Given the description of an element on the screen output the (x, y) to click on. 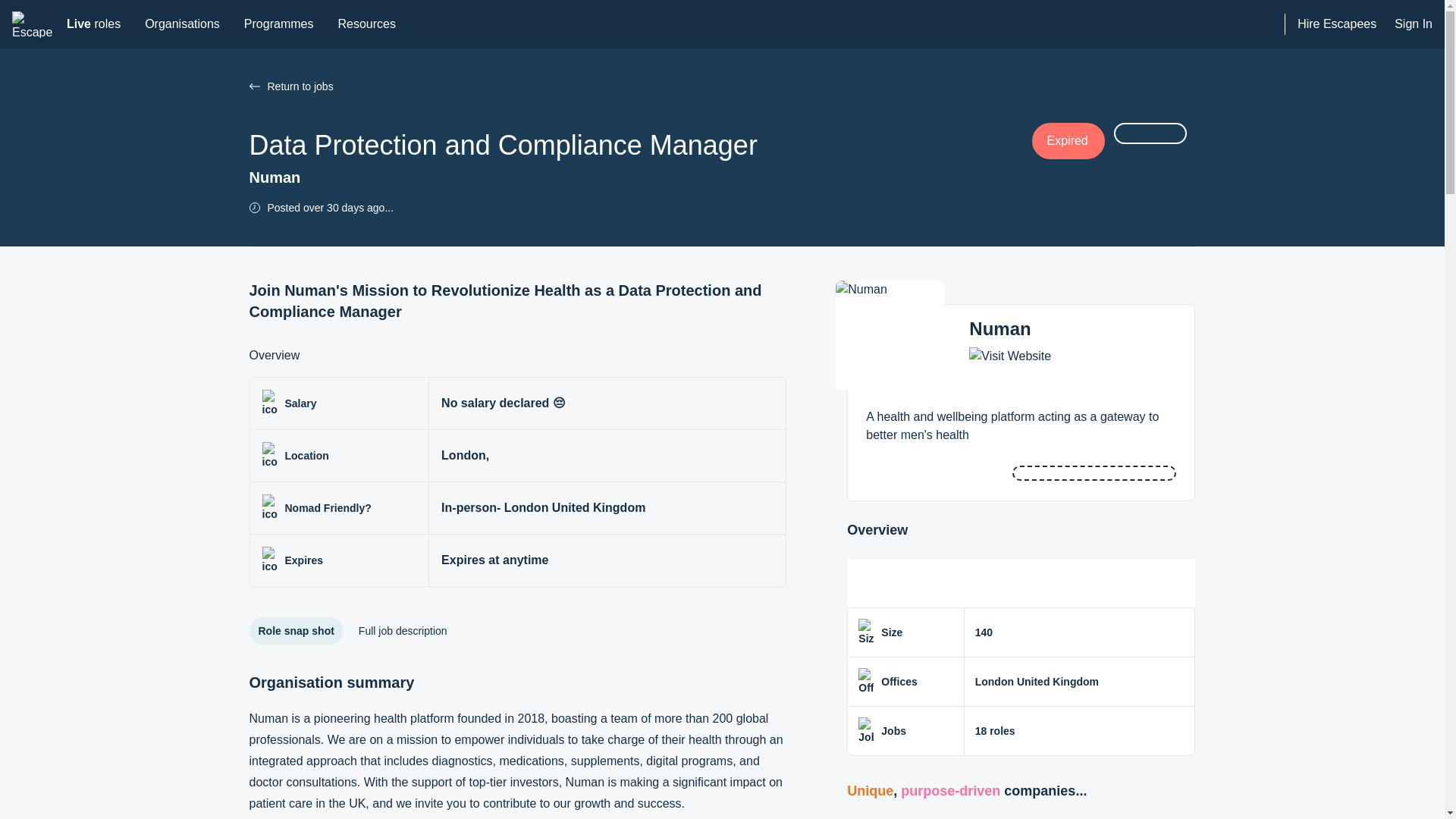
Escape the City (33, 23)
Return to jobs (639, 86)
Numan (999, 328)
Hire Escapees (1336, 24)
Organisations (93, 24)
Return to jobs (181, 24)
Resources (253, 86)
Programmes (365, 24)
